Given the description of an element on the screen output the (x, y) to click on. 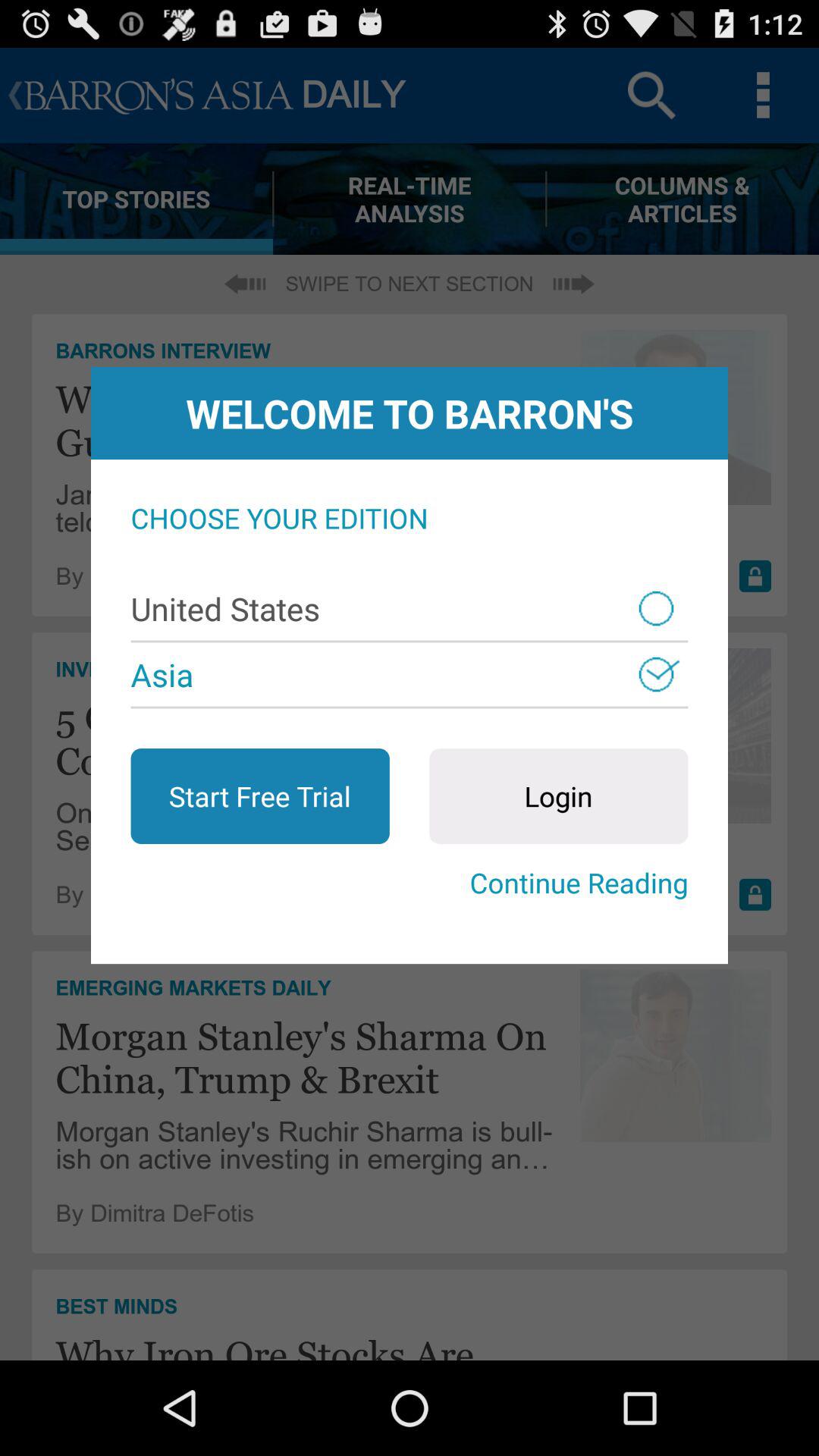
jump to united states item (409, 608)
